Given the description of an element on the screen output the (x, y) to click on. 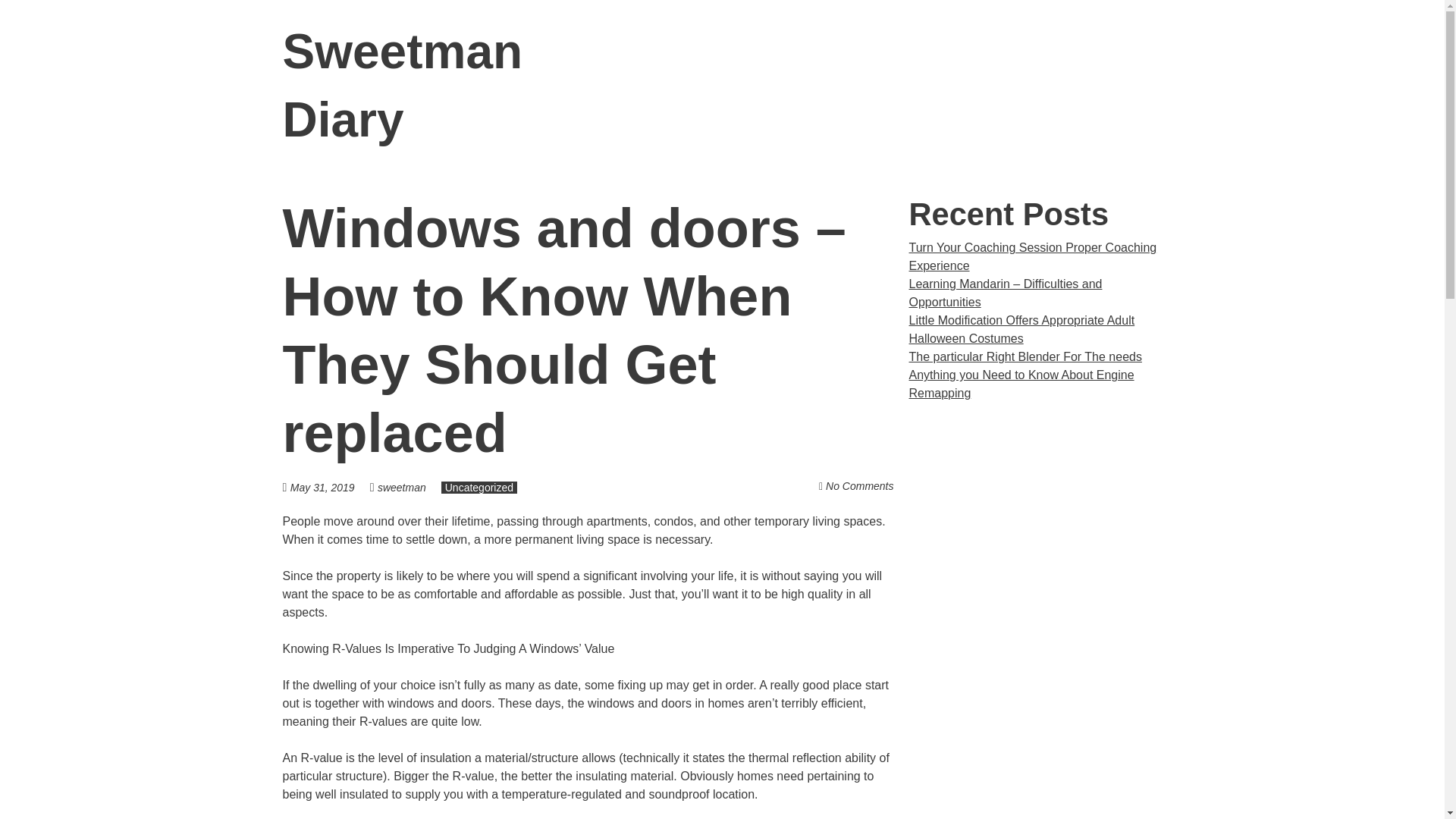
Uncategorized (478, 487)
May 31, 2019 (329, 486)
sweetman (401, 487)
Anything you Need to Know About Engine Remapping (1021, 383)
Turn Your Coaching Session Proper Coaching Experience (1032, 255)
Skip to content (1181, 52)
Skip to content (1181, 52)
No Comments (859, 485)
The particular Right Blender For The needs (1024, 356)
Sweetman Diary (402, 85)
